Given the description of an element on the screen output the (x, y) to click on. 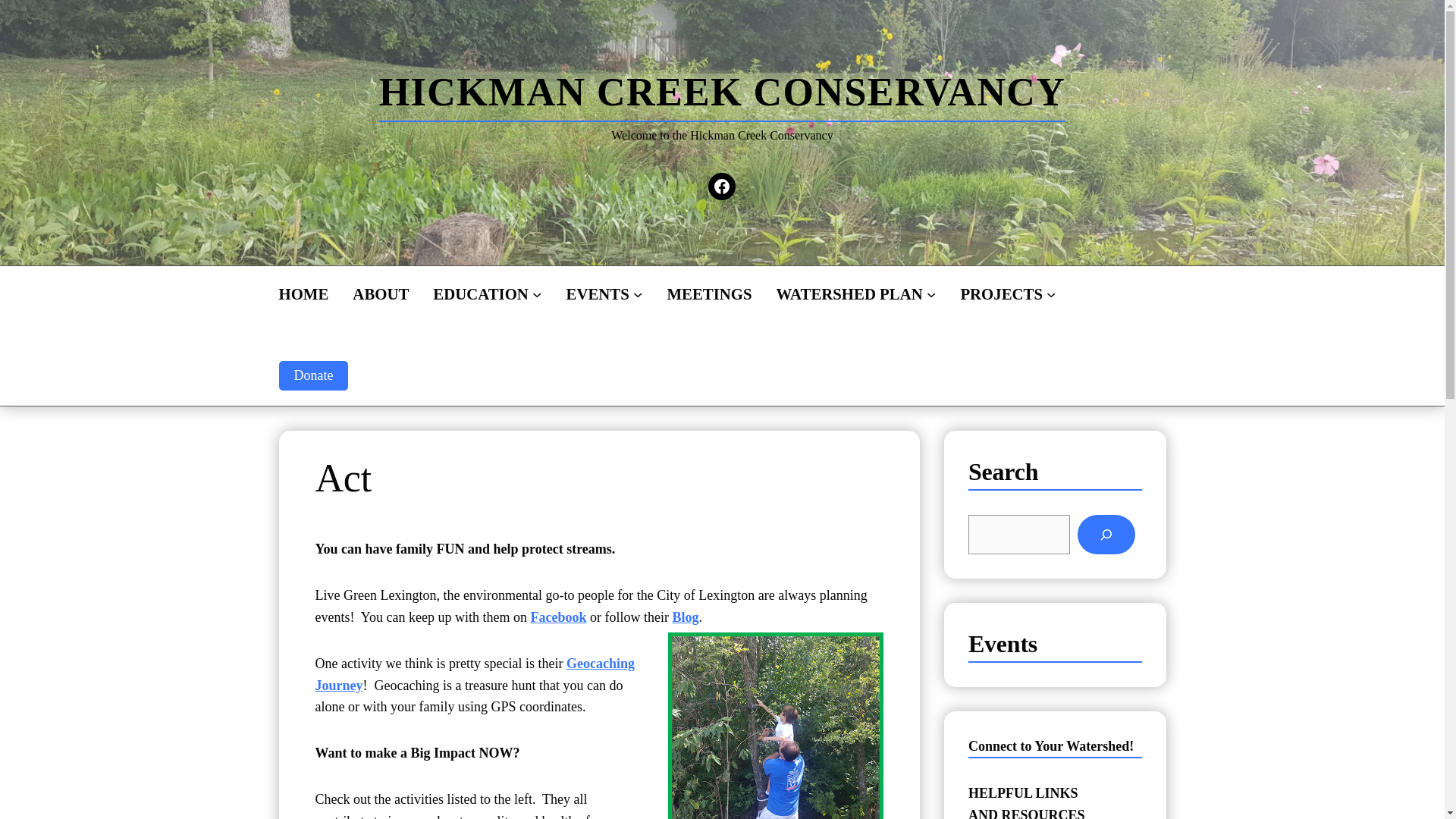
EVENTS (597, 293)
HOME (304, 293)
HICKMAN CREEK CONSERVANCY (721, 91)
Blog (684, 616)
EDUCATION (480, 293)
Facebook (557, 616)
Geocaching Journey (474, 674)
ABOUT (380, 293)
WATERSHED PLAN (849, 293)
MEETINGS (708, 293)
